Given the description of an element on the screen output the (x, y) to click on. 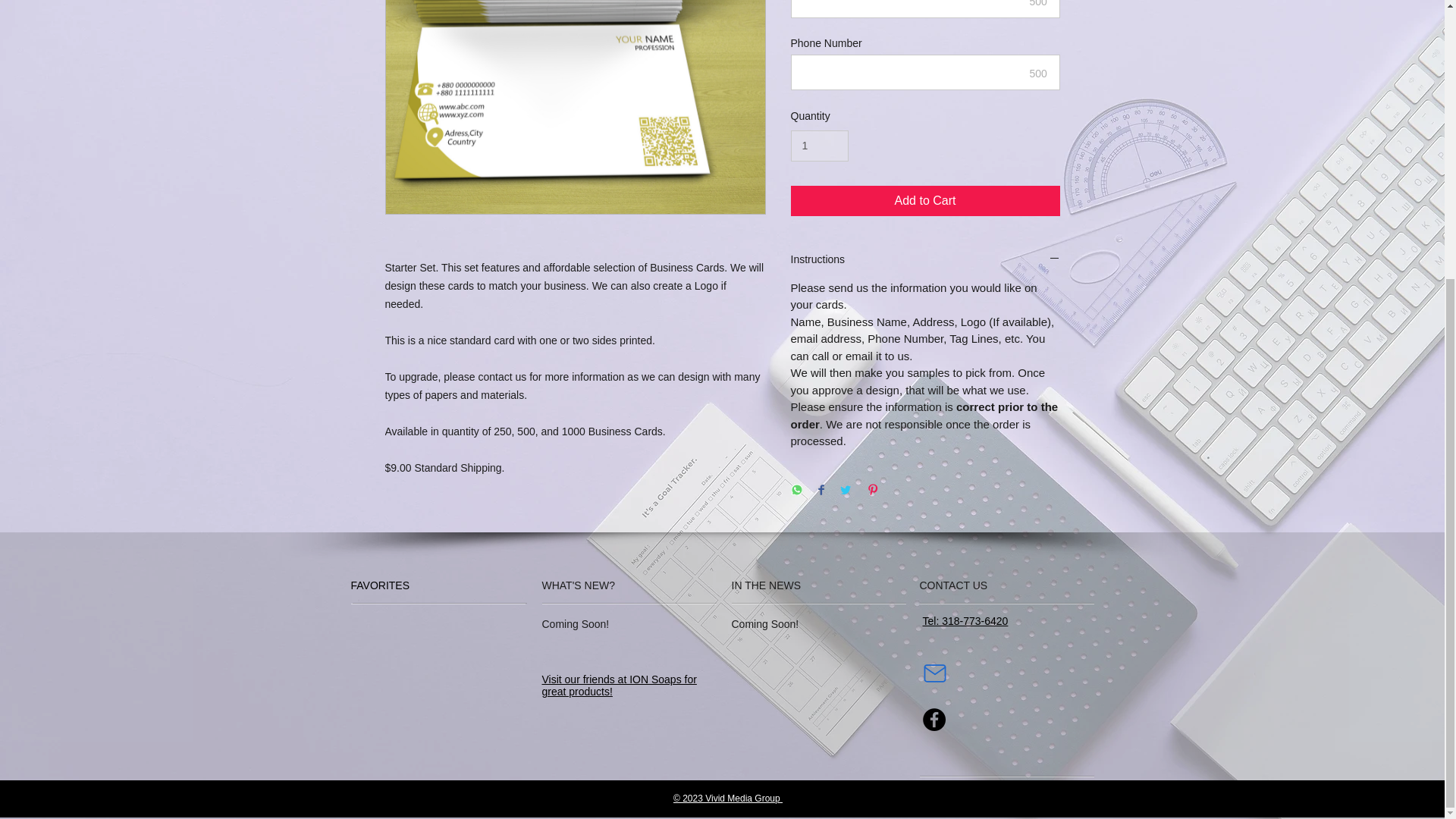
Tel: 318-773-6420 (964, 621)
Instructions (924, 259)
Visit our friends at ION Soaps for great products! (618, 685)
1 (818, 145)
Add to Cart (924, 200)
